Given the description of an element on the screen output the (x, y) to click on. 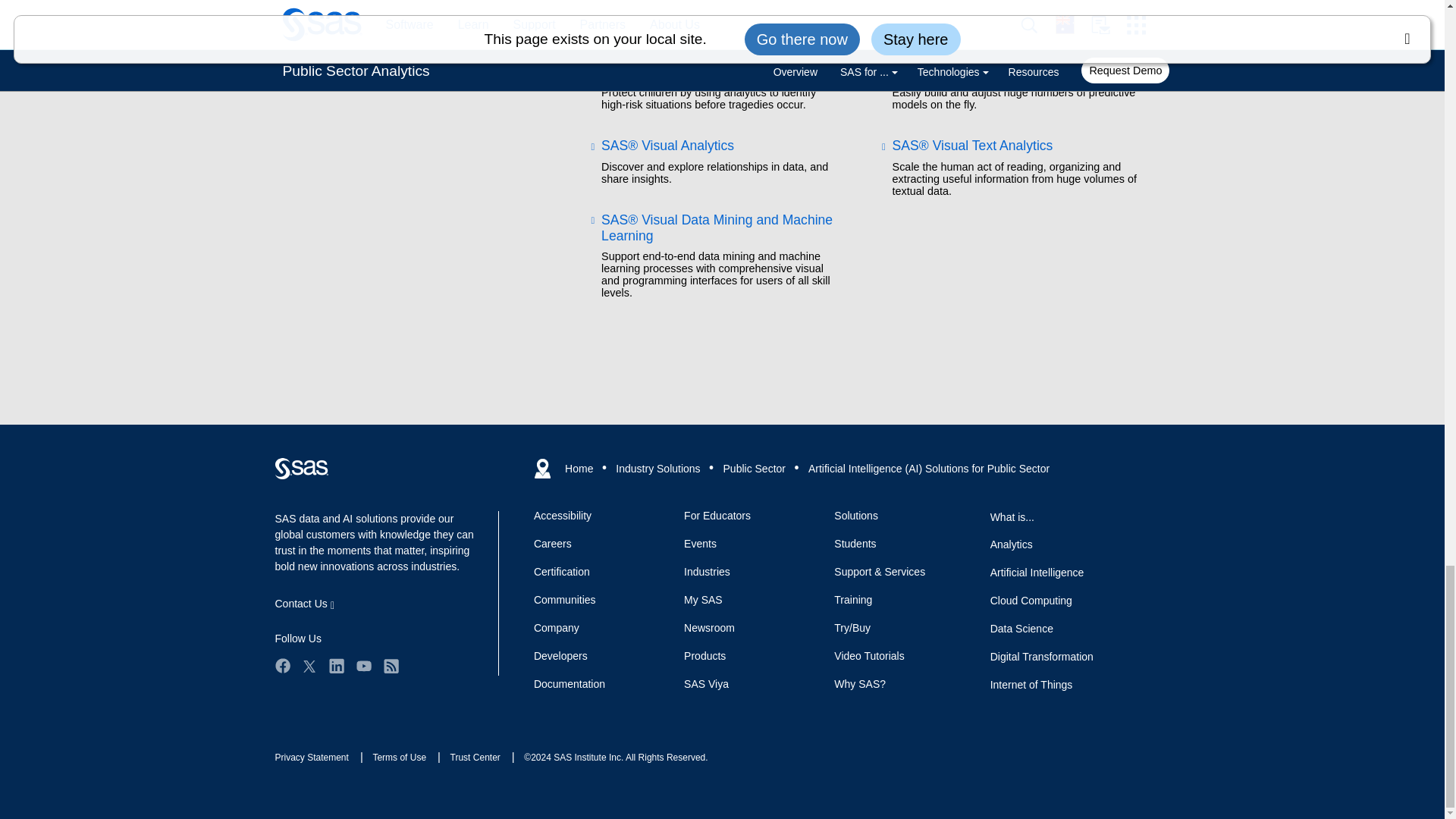
Web (301, 468)
